Given the description of an element on the screen output the (x, y) to click on. 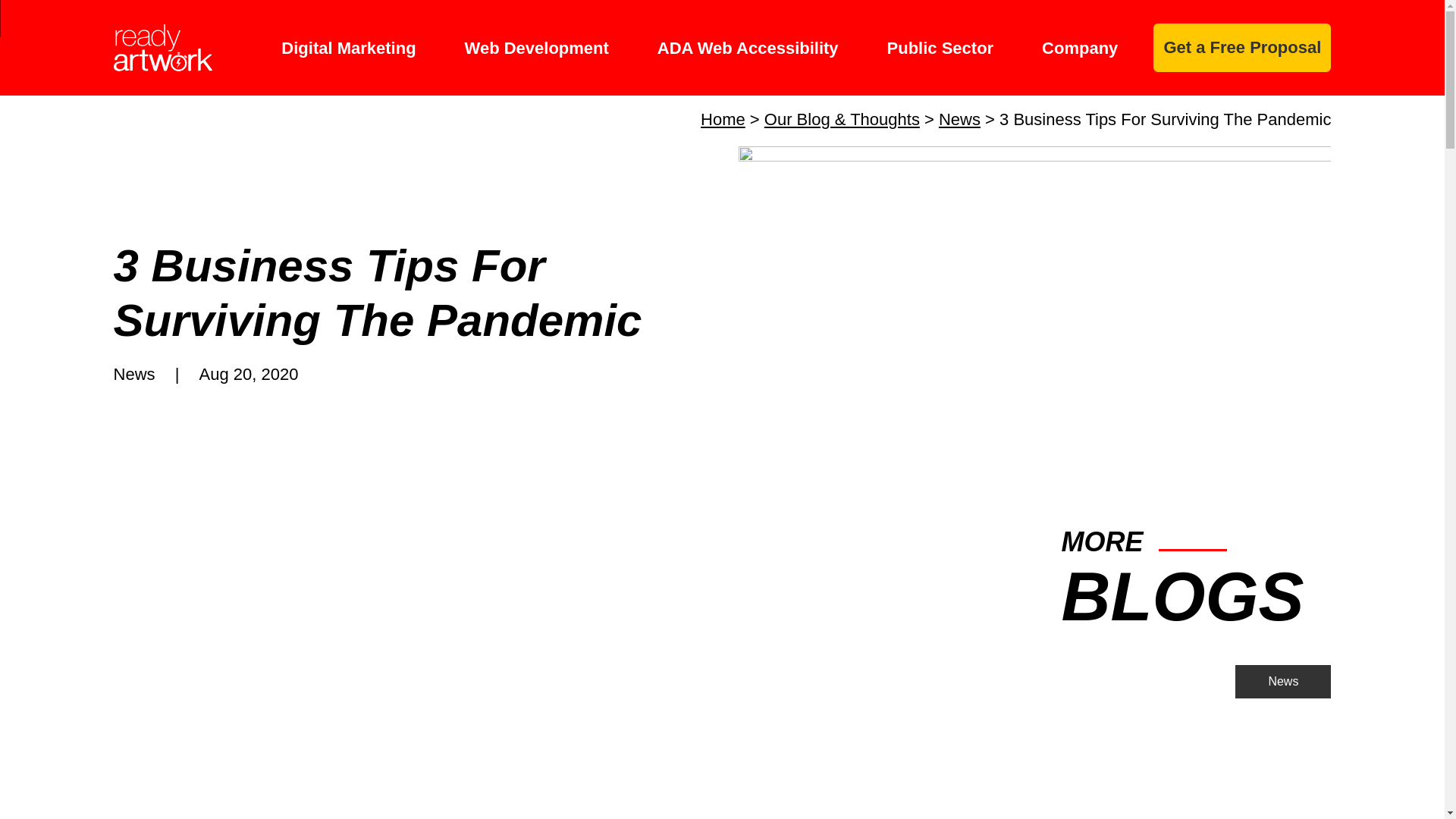
Company (1080, 47)
ADA Web Accessibility (748, 47)
Get a Free Proposal (1241, 47)
News (959, 118)
Digital Marketing (347, 47)
Home (722, 118)
Public Sector (940, 47)
Web Development (536, 47)
